Given the description of an element on the screen output the (x, y) to click on. 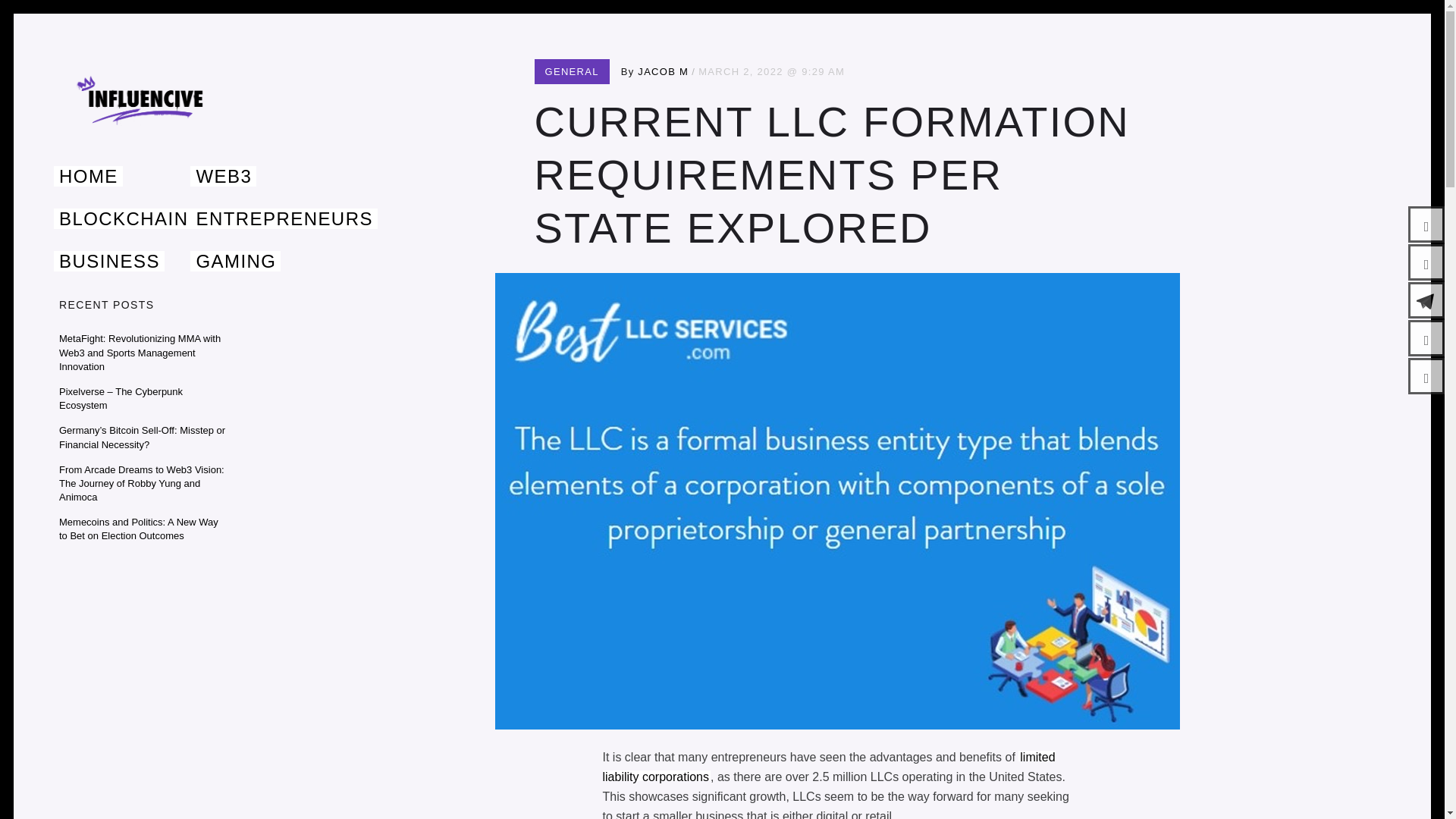
INFLUENCIVE (142, 158)
MARCH 2, 20229:29 AM (771, 71)
BLOCKCHAIN (122, 218)
HOME (87, 176)
GENERAL (571, 71)
JACOB M (662, 71)
BUSINESS (108, 260)
WEB3 (223, 176)
limited liability corporations (828, 766)
ENTREPRENEURS (283, 218)
GAMING (235, 260)
